Given the description of an element on the screen output the (x, y) to click on. 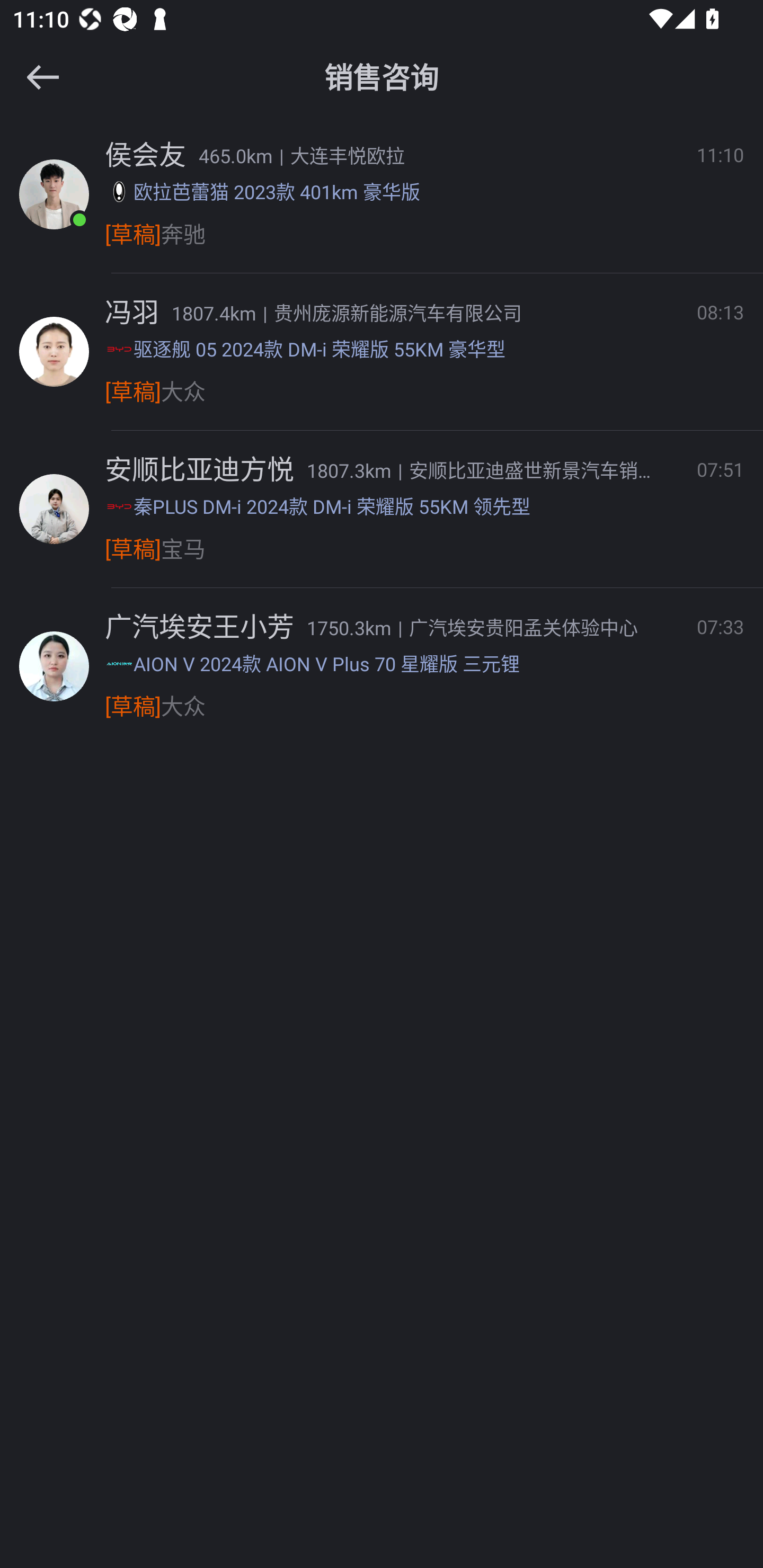
 (42, 76)
